Given the description of an element on the screen output the (x, y) to click on. 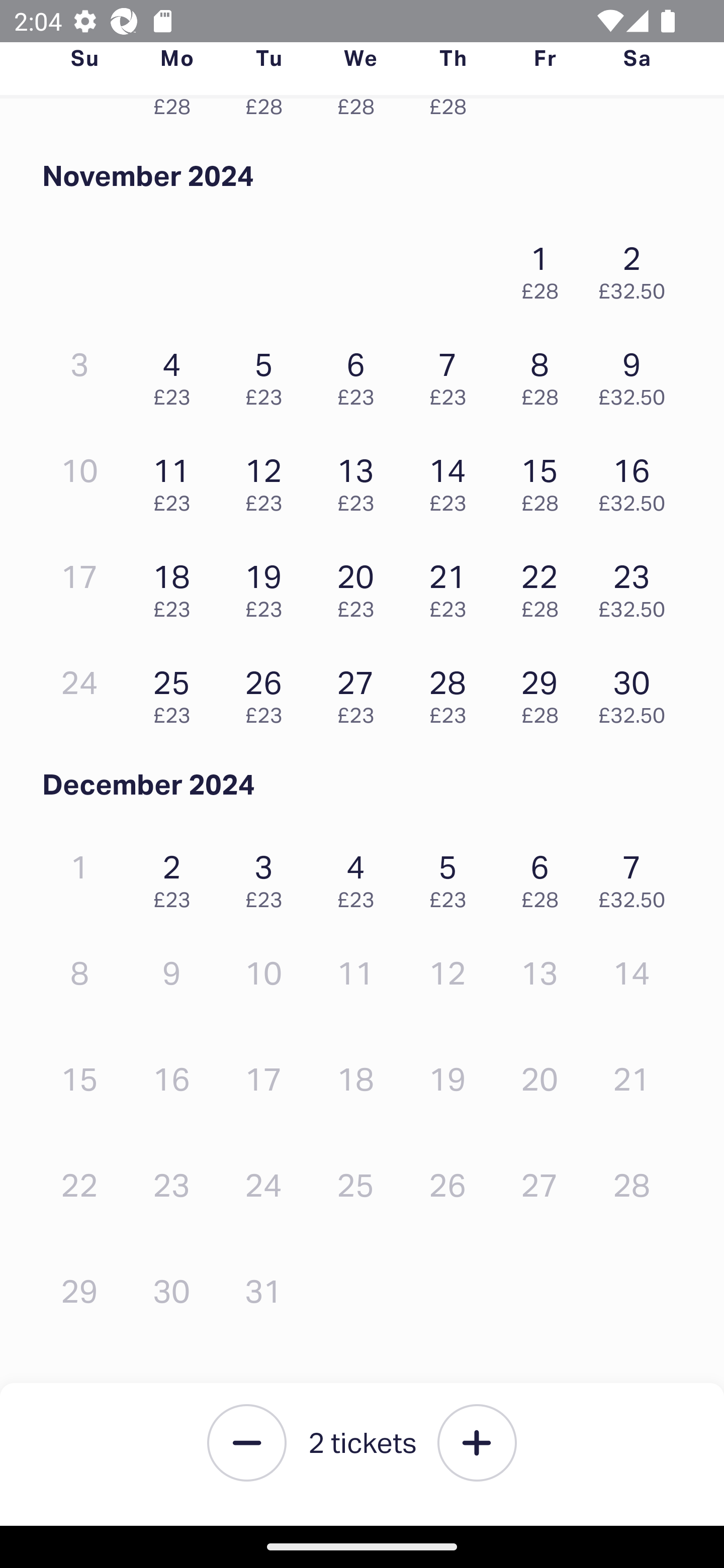
1 £28 (544, 267)
2 £32.50 (636, 267)
4 £23 (176, 373)
5 £23 (268, 373)
6 £23 (360, 373)
7 £23 (452, 373)
8 £28 (544, 373)
9 £32.50 (636, 373)
11 £23 (176, 480)
12 £23 (268, 480)
13 £23 (360, 480)
14 £23 (452, 480)
15 £28 (544, 480)
16 £32.50 (636, 480)
18 £23 (176, 585)
19 £23 (268, 585)
20 £23 (360, 585)
21 £23 (452, 585)
22 £28 (544, 585)
23 £32.50 (636, 585)
25 £23 (176, 691)
26 £23 (268, 691)
27 £23 (360, 691)
28 £23 (452, 691)
29 £28 (544, 691)
30 £32.50 (636, 691)
2 £23 (176, 876)
3 £23 (268, 876)
4 £23 (360, 876)
5 £23 (452, 876)
6 £28 (544, 876)
7 £32.50 (636, 876)
